Given the description of an element on the screen output the (x, y) to click on. 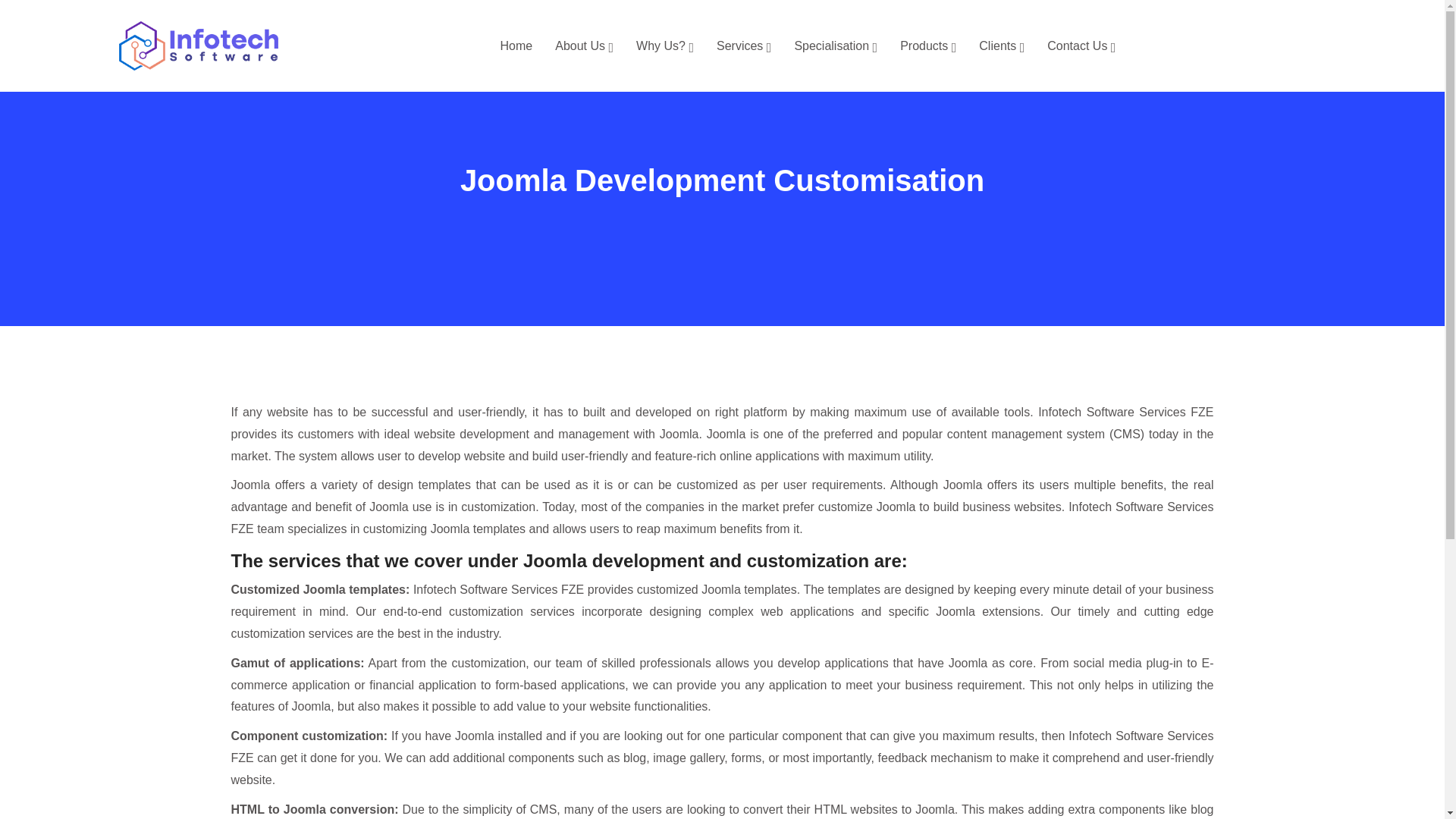
Why Us? (665, 45)
Home (516, 45)
About Us (583, 45)
Services (743, 45)
